Given the description of an element on the screen output the (x, y) to click on. 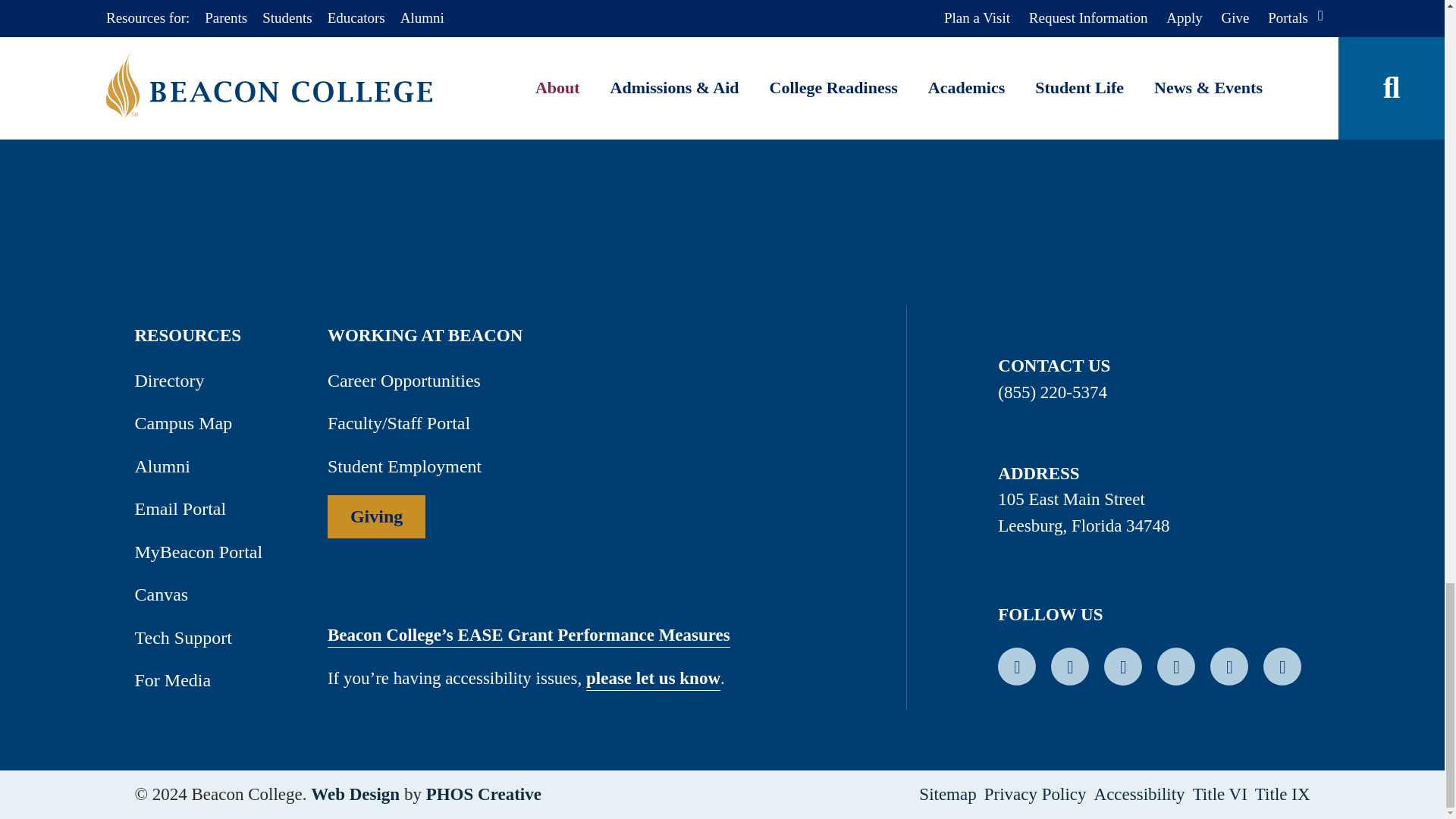
Youtube Link (1176, 664)
Twitter Link (1122, 664)
Flickr Link (1282, 664)
Instagram Link (1228, 664)
Facebook Link (1016, 664)
LinkedIn Link (1070, 664)
